Given the description of an element on the screen output the (x, y) to click on. 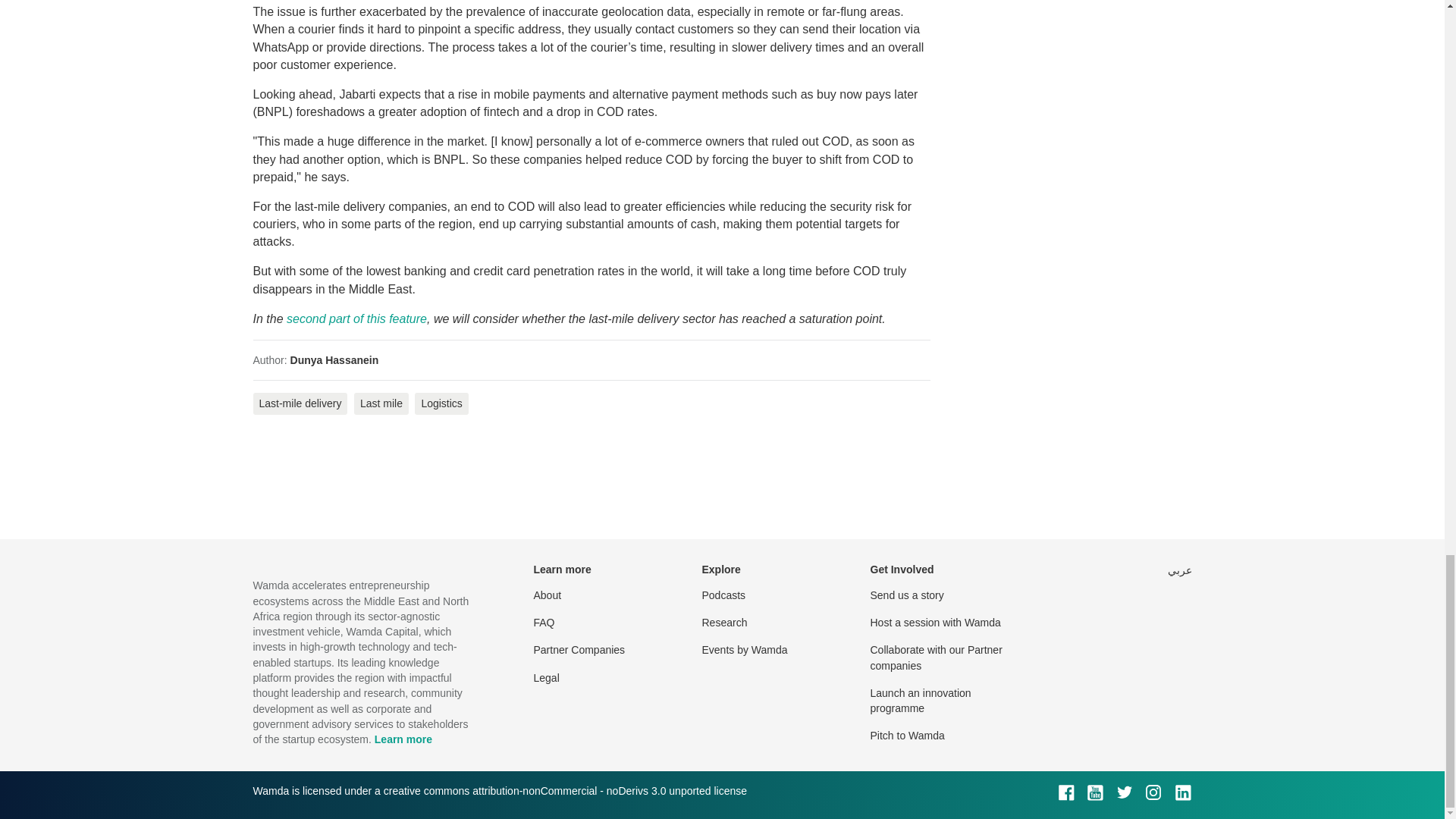
second part of this feature (356, 318)
Last-mile delivery (300, 403)
Legal (546, 677)
Last mile (381, 403)
Events by Wamda (744, 649)
Partner Companies (580, 649)
Research (724, 622)
Twitter (1124, 791)
FAQ (544, 622)
Podcasts (723, 594)
